Given the description of an element on the screen output the (x, y) to click on. 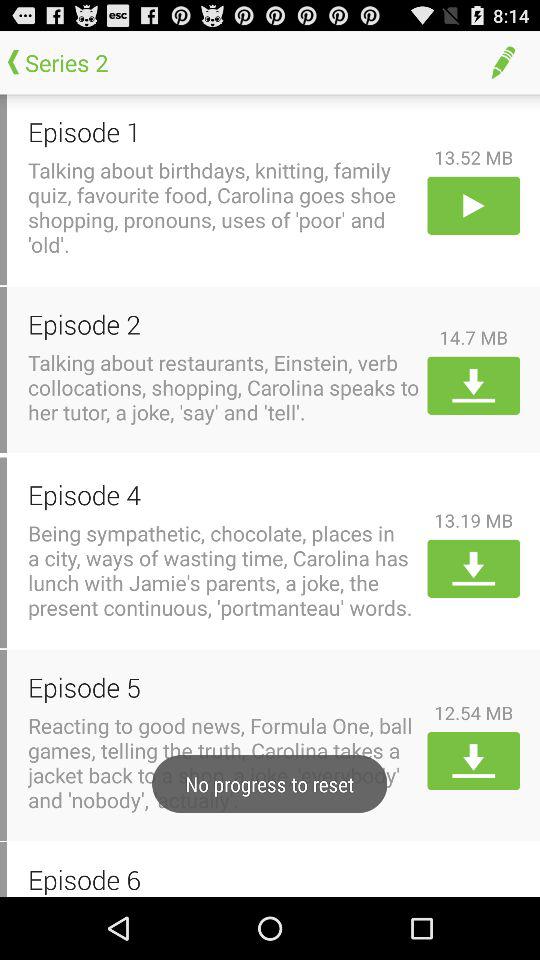
launch episode 2 (224, 323)
